Given the description of an element on the screen output the (x, y) to click on. 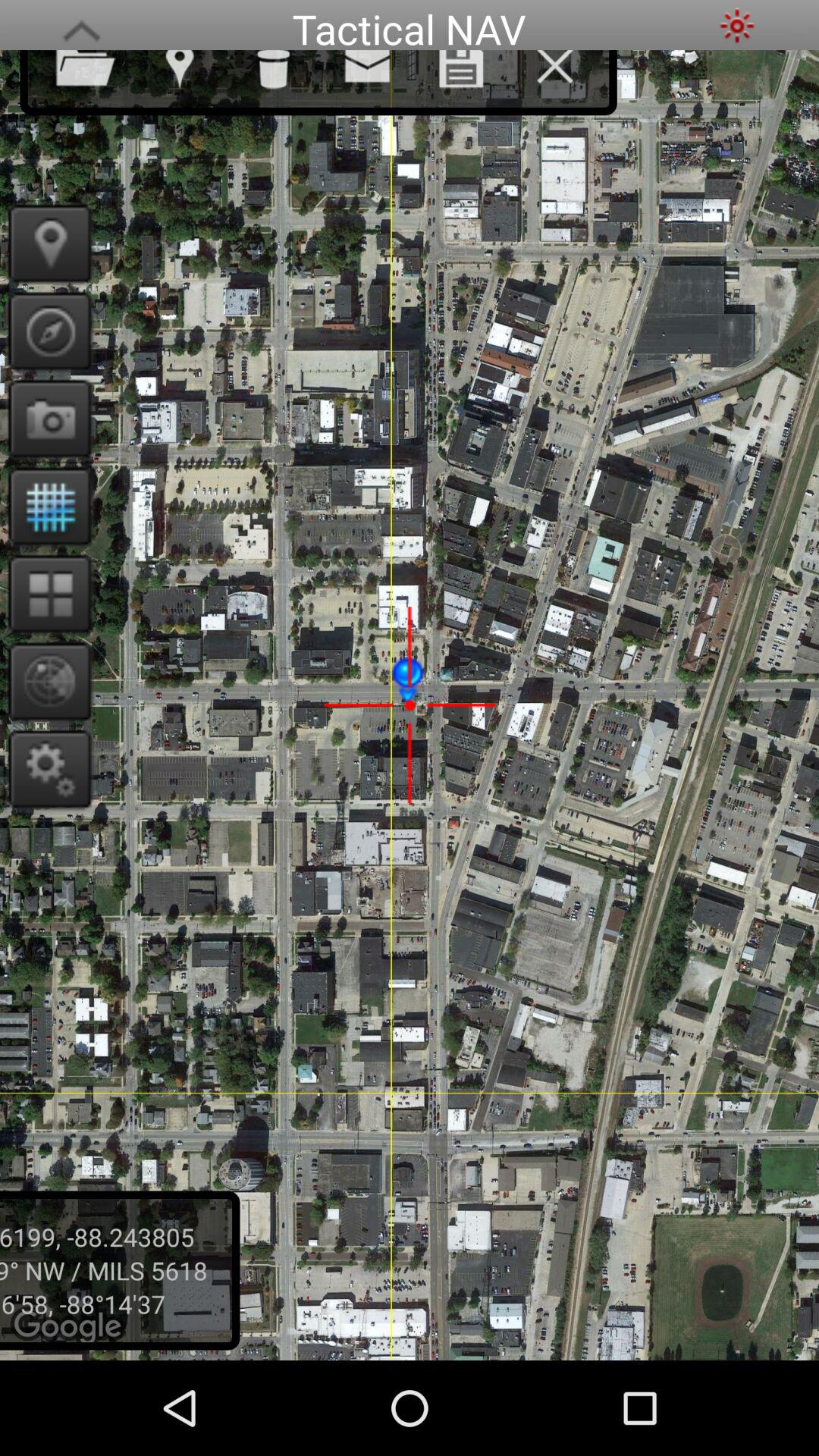
see directions (45, 330)
